Given the description of an element on the screen output the (x, y) to click on. 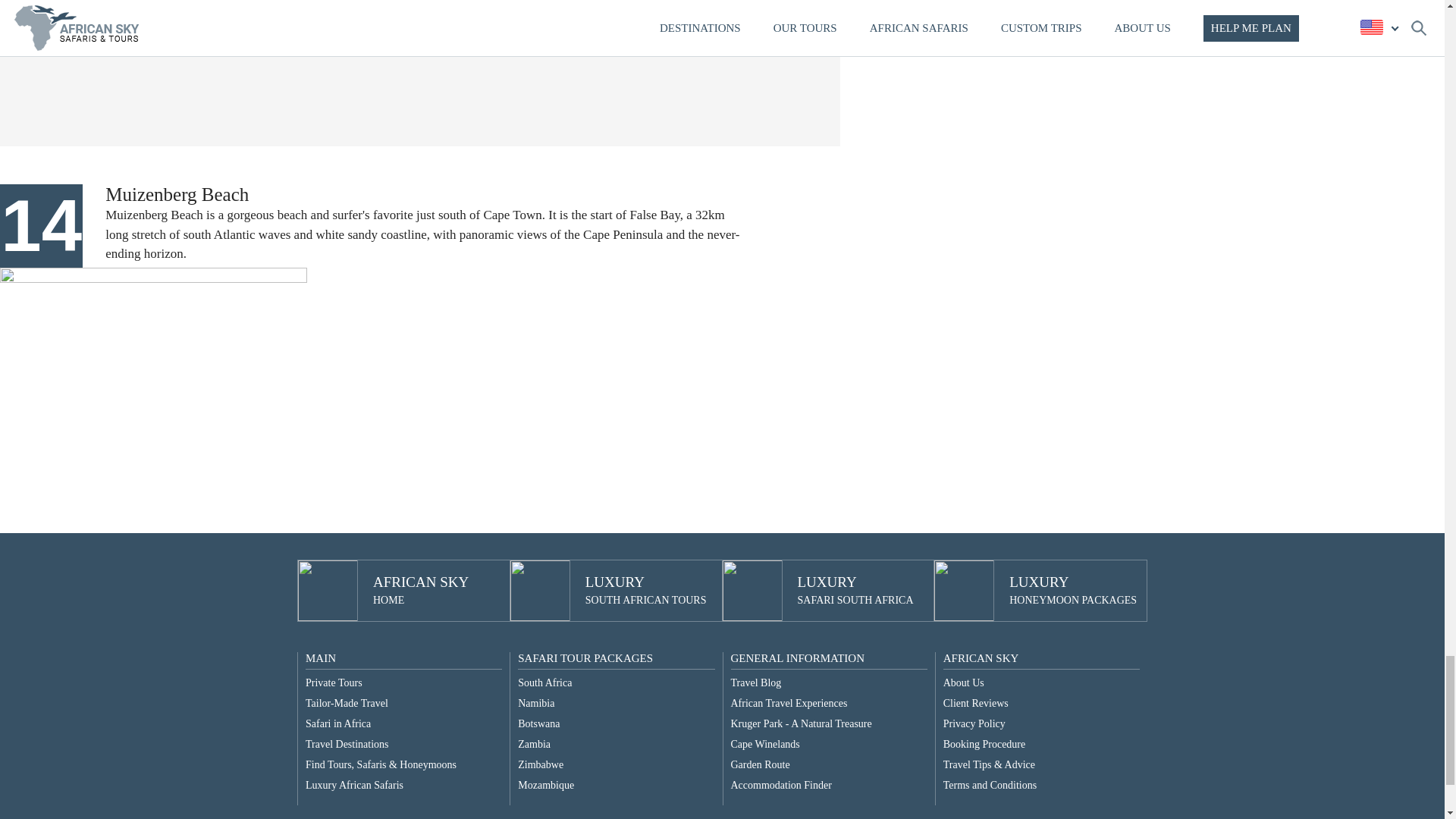
Luxury African Safaris (855, 590)
Namibia (354, 785)
Zambia (536, 703)
Tailor-Made Travel (534, 744)
Zimbabwe (346, 703)
Mozambique (540, 764)
Botswana (545, 785)
Travel Destinations (538, 723)
Safari in Africa (1073, 590)
South Africa (346, 744)
Private Tours (338, 723)
